Given the description of an element on the screen output the (x, y) to click on. 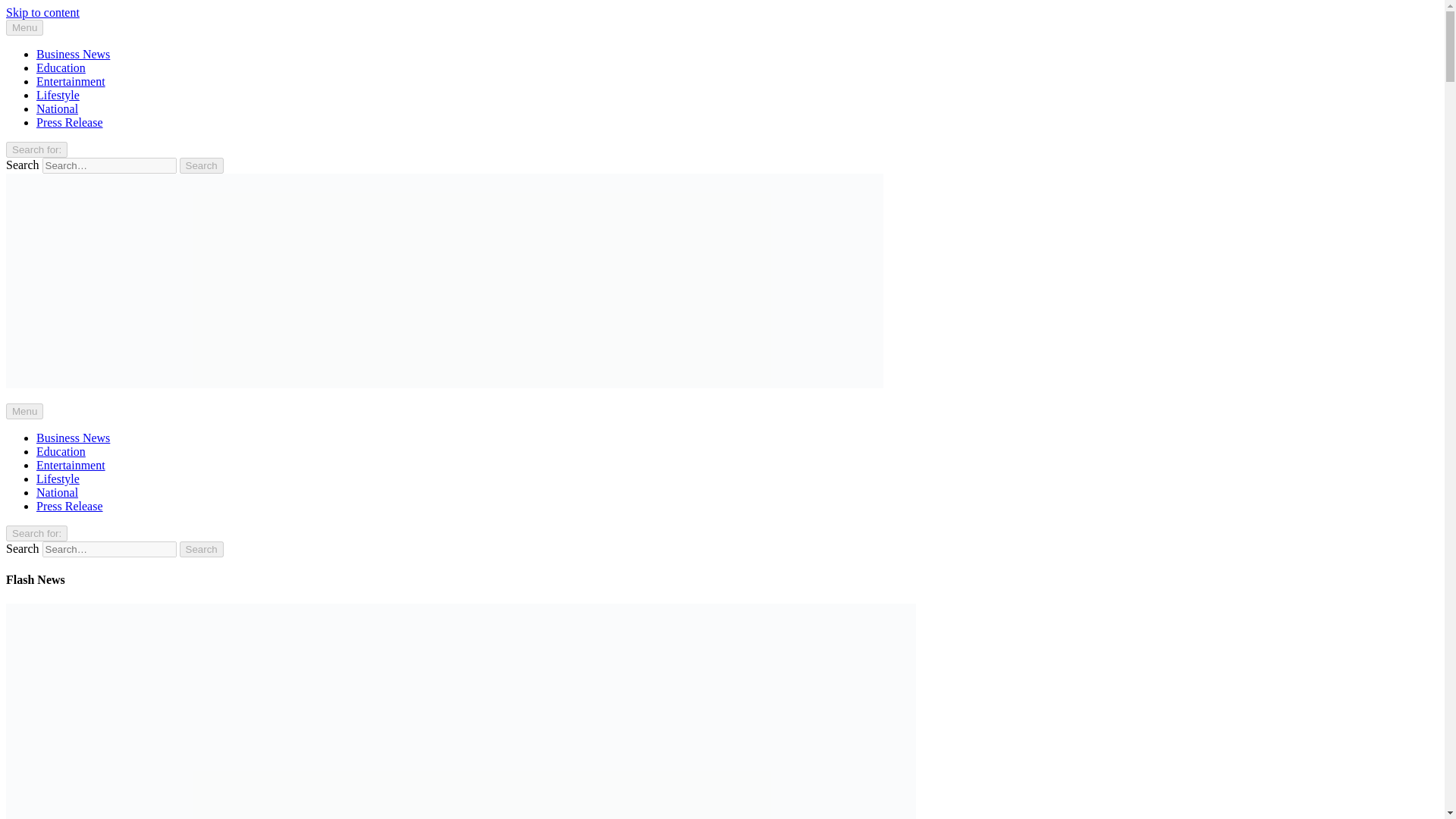
Search (201, 549)
Education (60, 67)
Lifestyle (58, 94)
Entertainment (70, 464)
Search for: (35, 533)
Search (201, 549)
Press Release (69, 122)
Menu (24, 411)
News Daddy (36, 409)
Search (201, 549)
Business News (73, 437)
Skip to content (42, 11)
Search (201, 165)
Search (201, 165)
Press Release (69, 505)
